Given the description of an element on the screen output the (x, y) to click on. 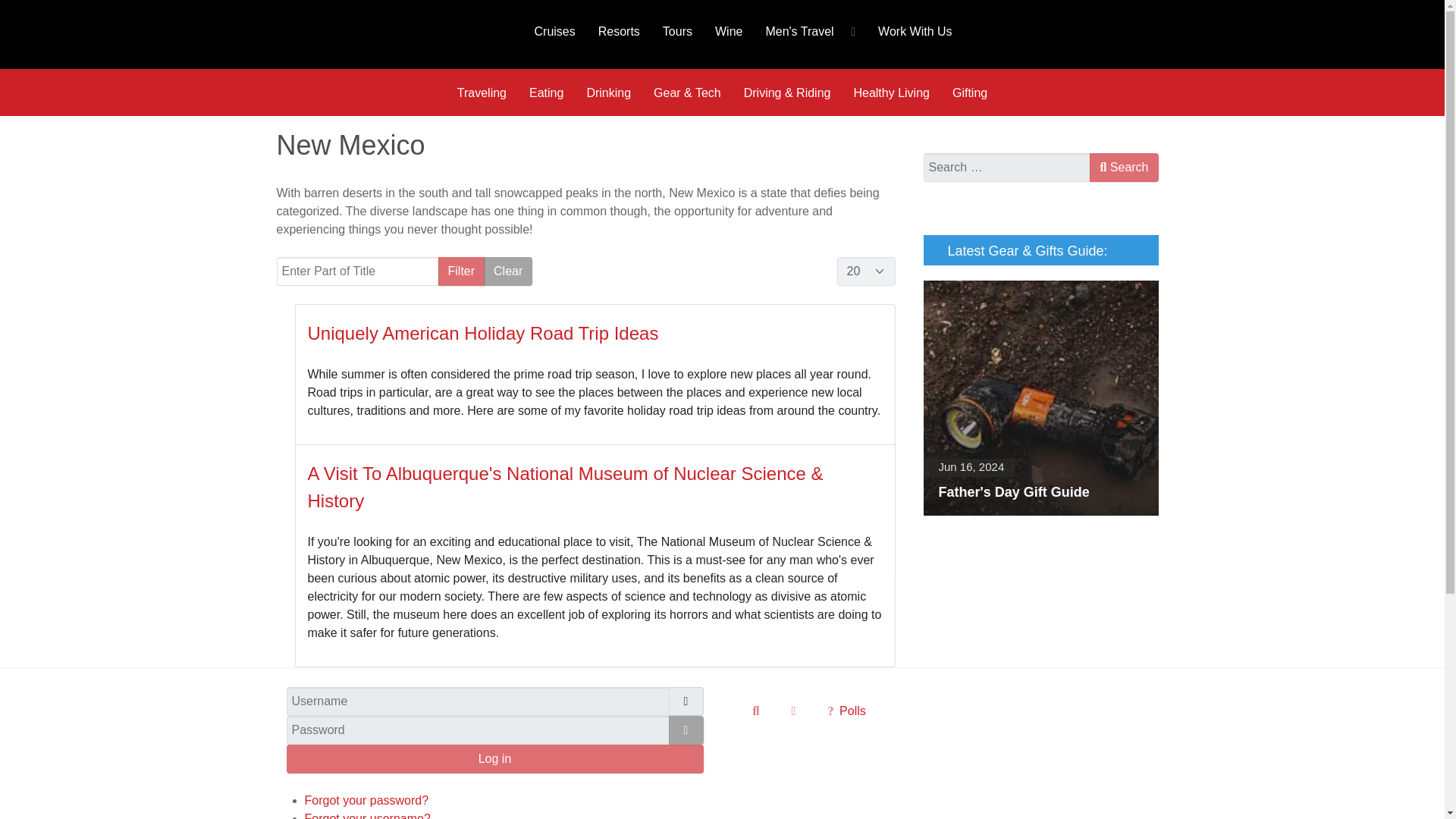
Filter (461, 271)
Wine (728, 30)
Uniquely American Holiday Road Trip Ideas (483, 332)
Eating (546, 92)
Resorts (618, 30)
Polls (845, 710)
Drinking (608, 92)
Father's Day Gift Guide (1040, 397)
Healthy Living (890, 92)
Username (685, 701)
